Given the description of an element on the screen output the (x, y) to click on. 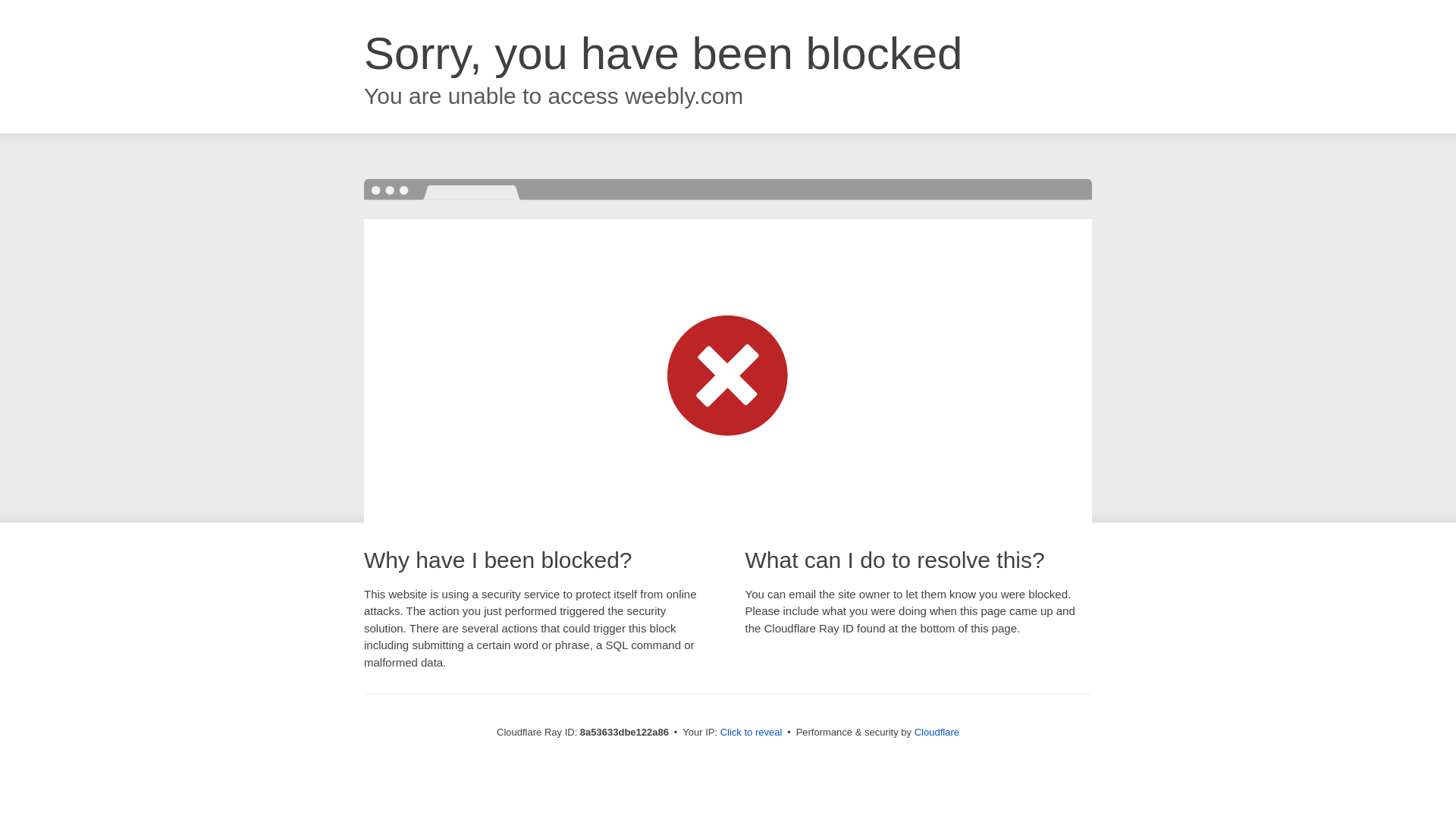
Click to reveal (751, 732)
Cloudflare (936, 731)
